Given the description of an element on the screen output the (x, y) to click on. 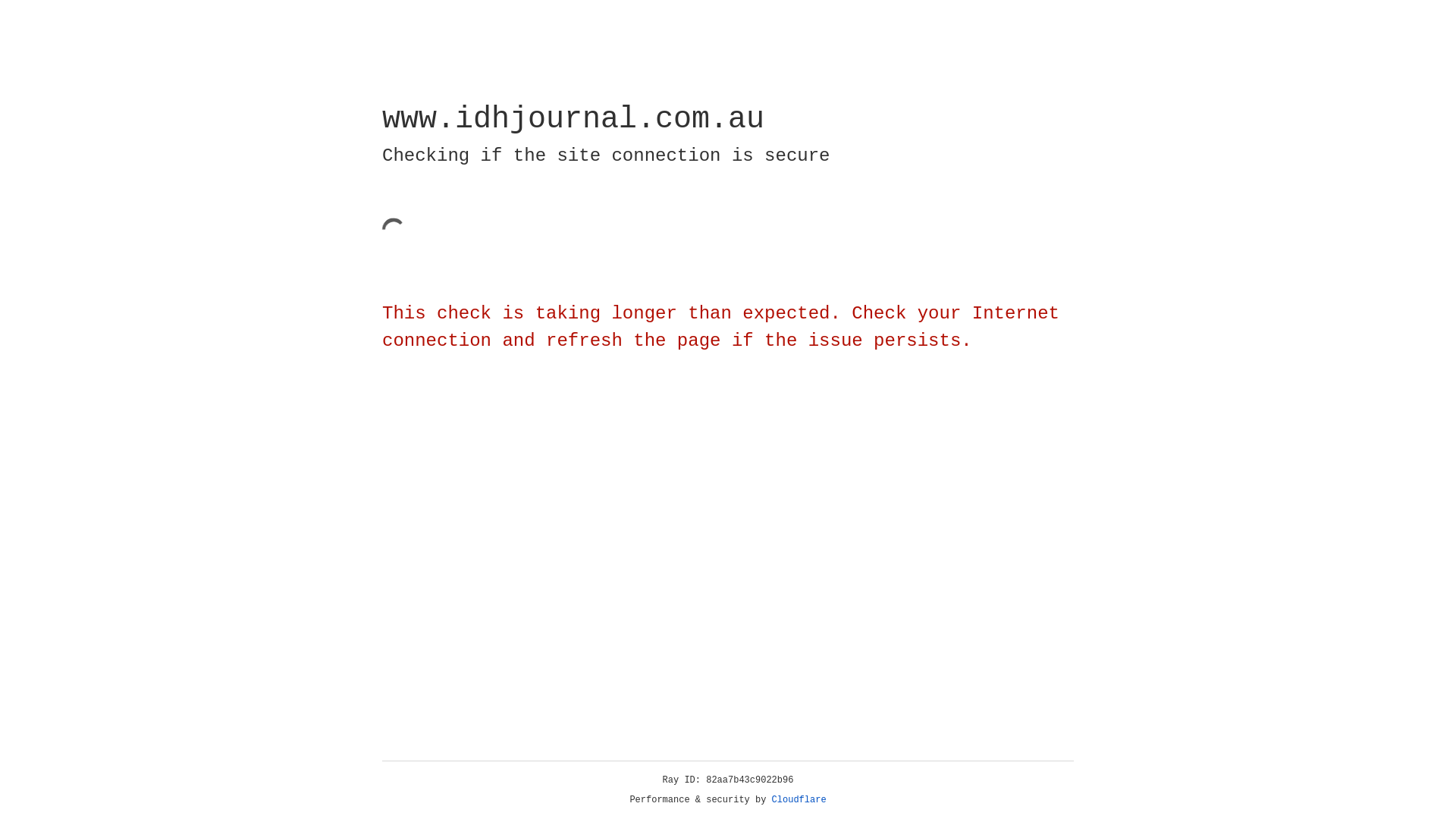
Cloudflare Element type: text (798, 799)
